Given the description of an element on the screen output the (x, y) to click on. 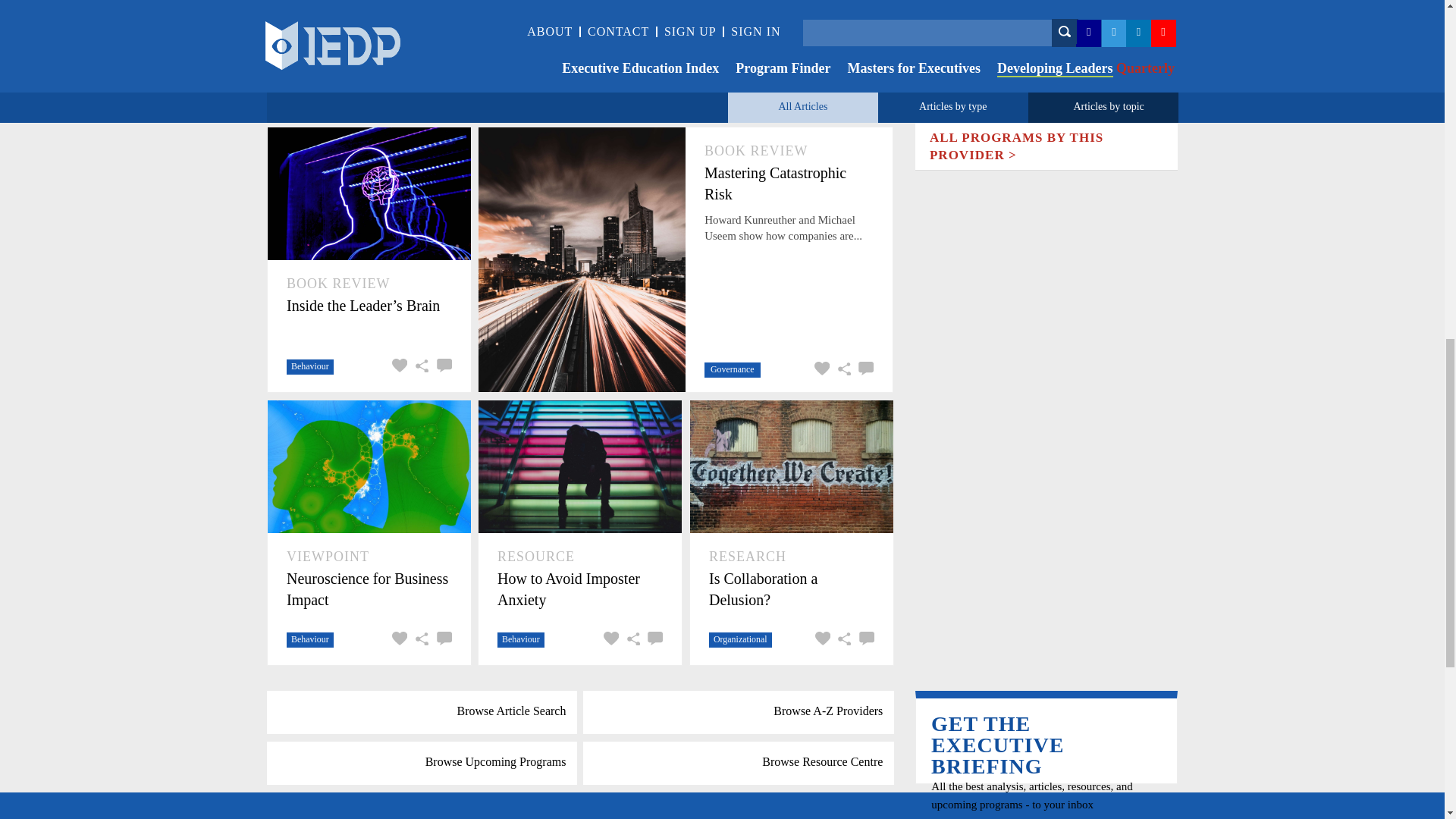
comment (441, 366)
share (842, 369)
favourite (397, 639)
share (420, 639)
comment (863, 369)
How to Avoid Imposter Anxiety (579, 589)
comment (441, 639)
favourite (819, 369)
share (420, 366)
share (631, 639)
favourite (608, 639)
Neuroscience for Business Impact (368, 589)
comment (652, 639)
favourite (397, 366)
Mastering Catastrophic Risk (788, 183)
